Given the description of an element on the screen output the (x, y) to click on. 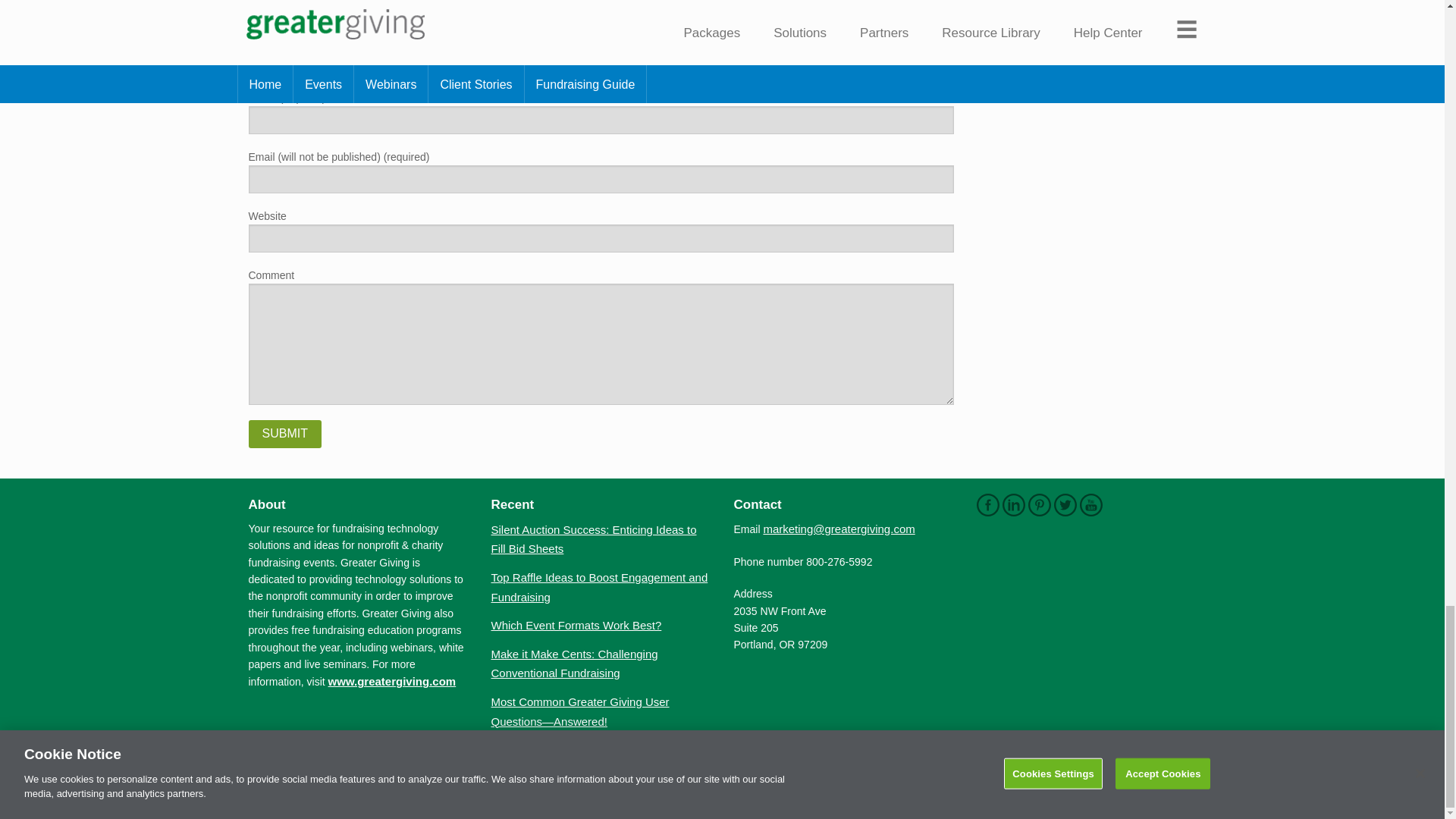
Submit (284, 433)
